Given the description of an element on the screen output the (x, y) to click on. 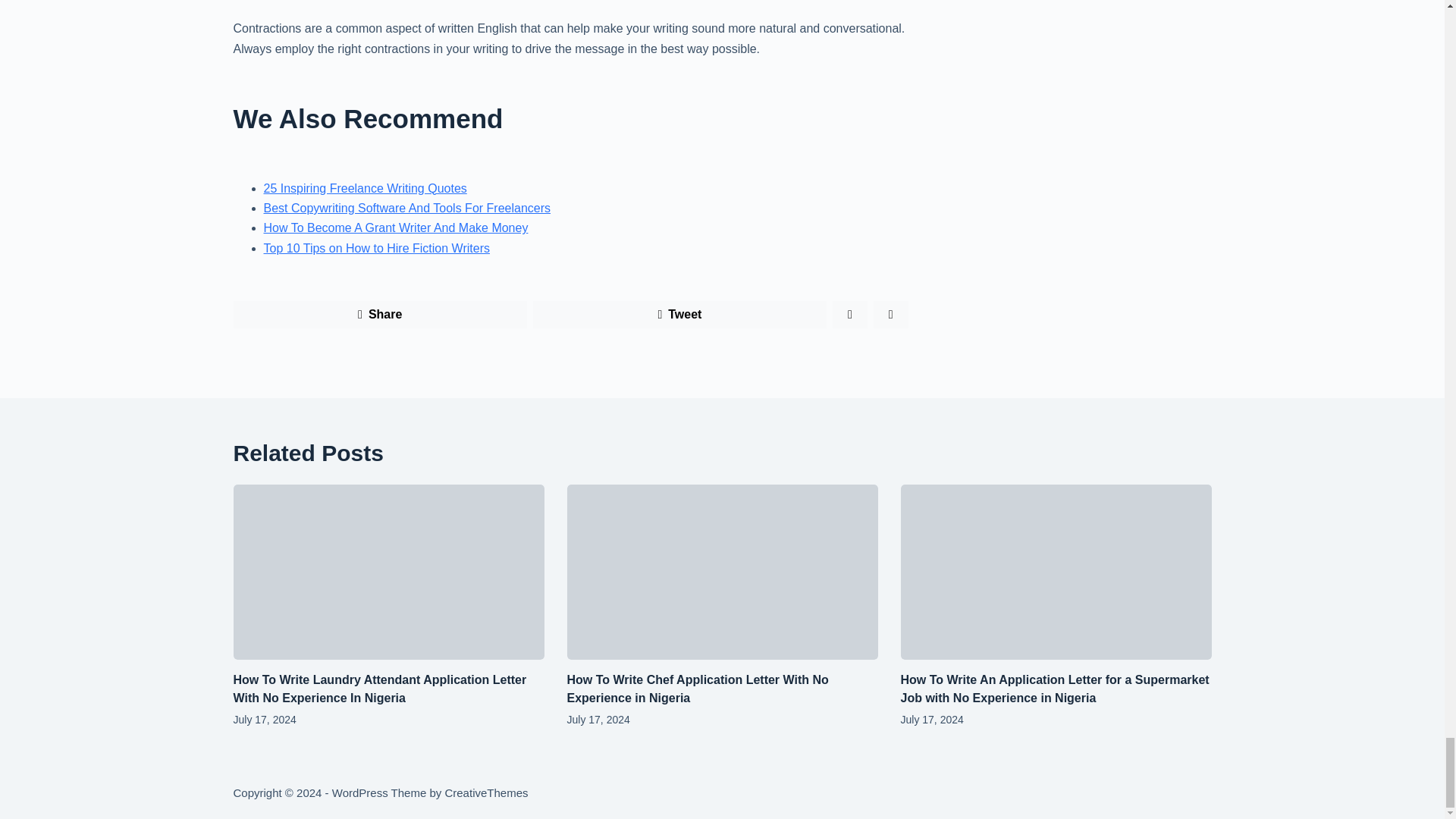
Share (379, 314)
How To Become A Grant Writer And Make Money (395, 227)
Top 10 Tips on How to Hire Fiction Writers (376, 247)
Best Copywriting Software And Tools For Freelancers (407, 207)
25 Inspiring Freelance Writing Quotes (365, 187)
